Given the description of an element on the screen output the (x, y) to click on. 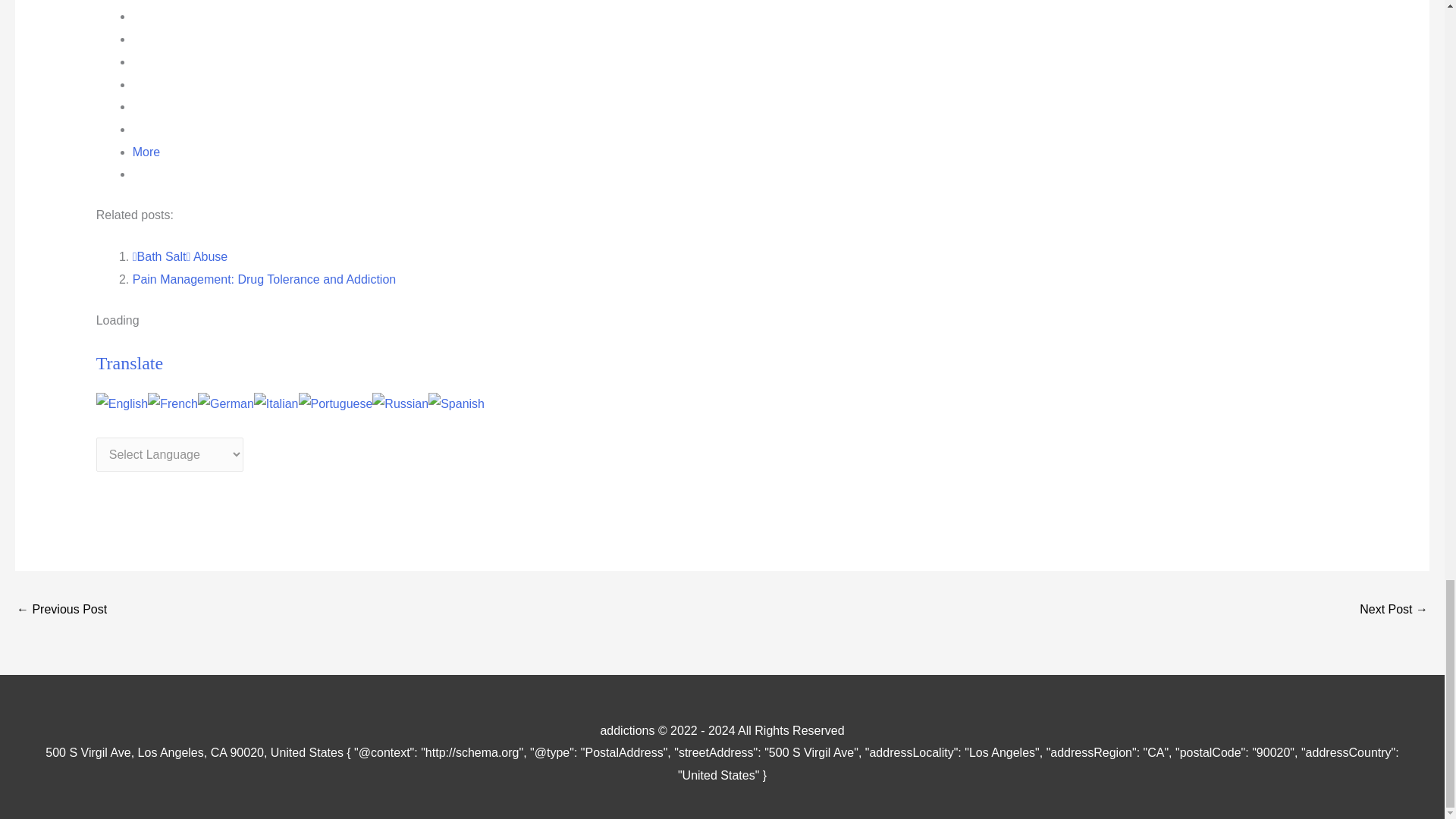
English (122, 402)
French (173, 402)
Pain Management: Drug Tolerance and Addiction (264, 278)
